Given the description of an element on the screen output the (x, y) to click on. 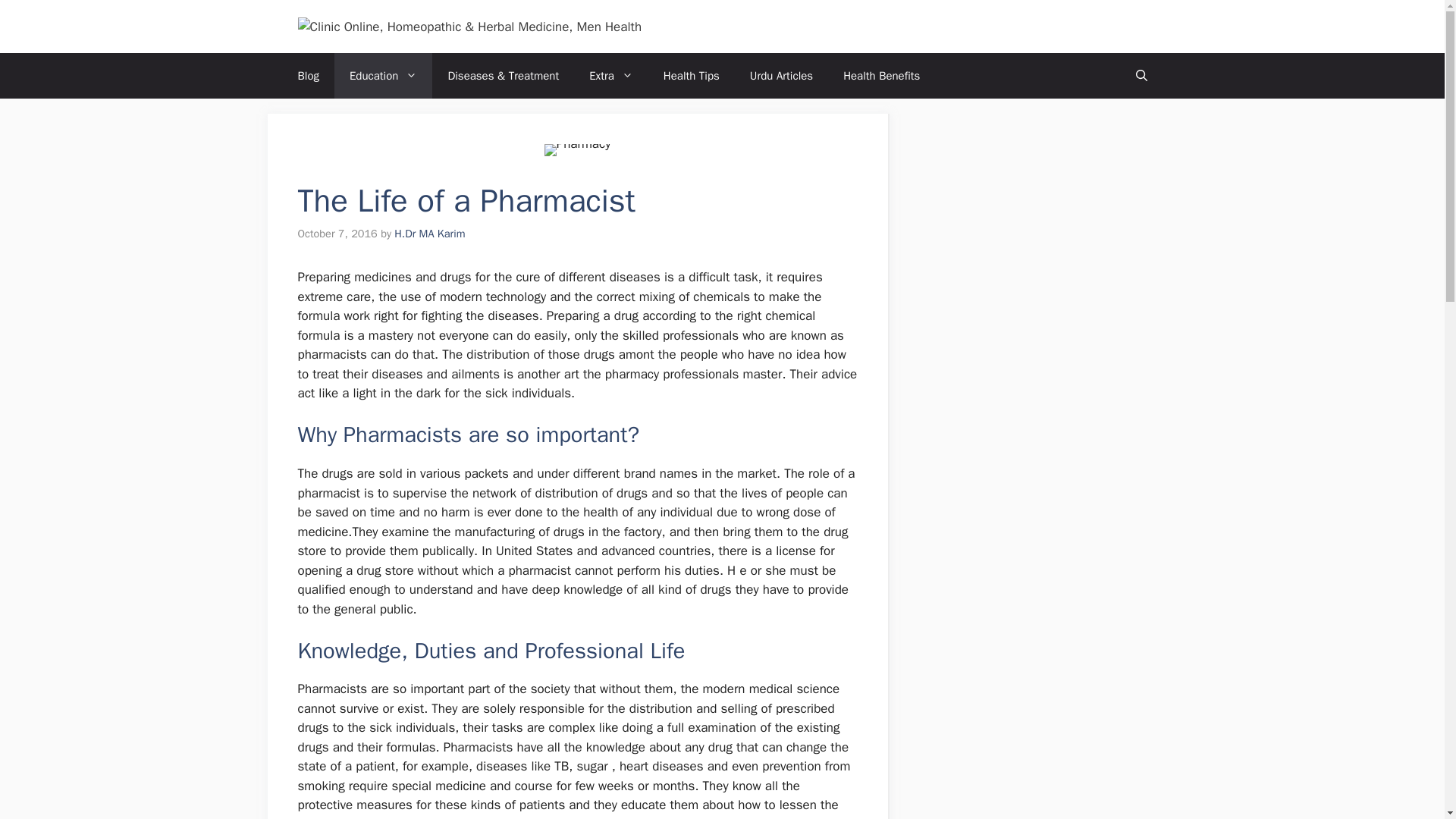
Blog (307, 75)
Extra (610, 75)
Health Tips (691, 75)
View all posts by H.Dr MA Karim (429, 233)
Urdu Articles (781, 75)
Health Benefits (881, 75)
Education (383, 75)
H.Dr MA Karim (429, 233)
